Given the description of an element on the screen output the (x, y) to click on. 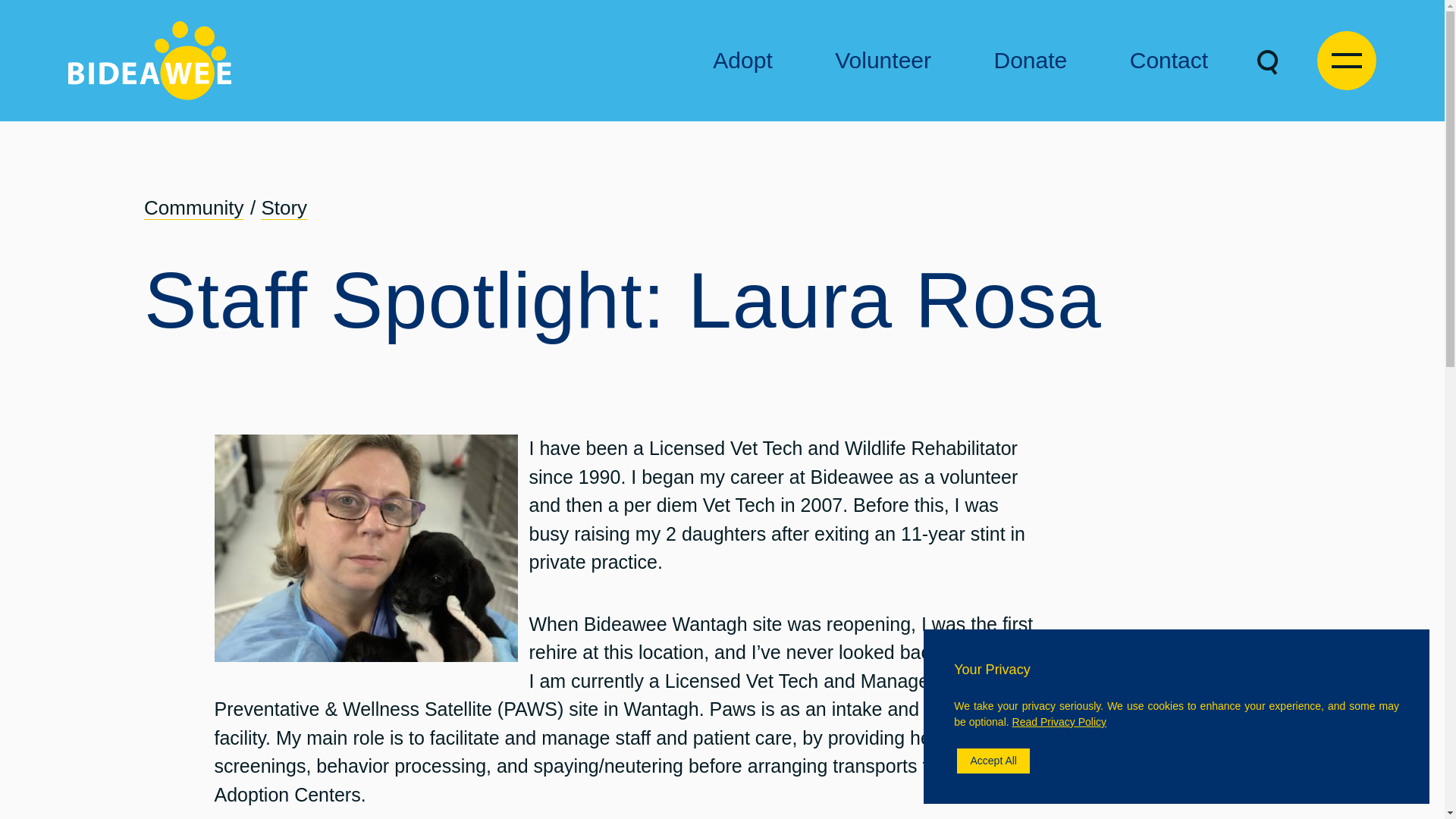
Contact (1169, 60)
Adopt (742, 60)
Donate (1029, 60)
Volunteer (882, 60)
